Given the description of an element on the screen output the (x, y) to click on. 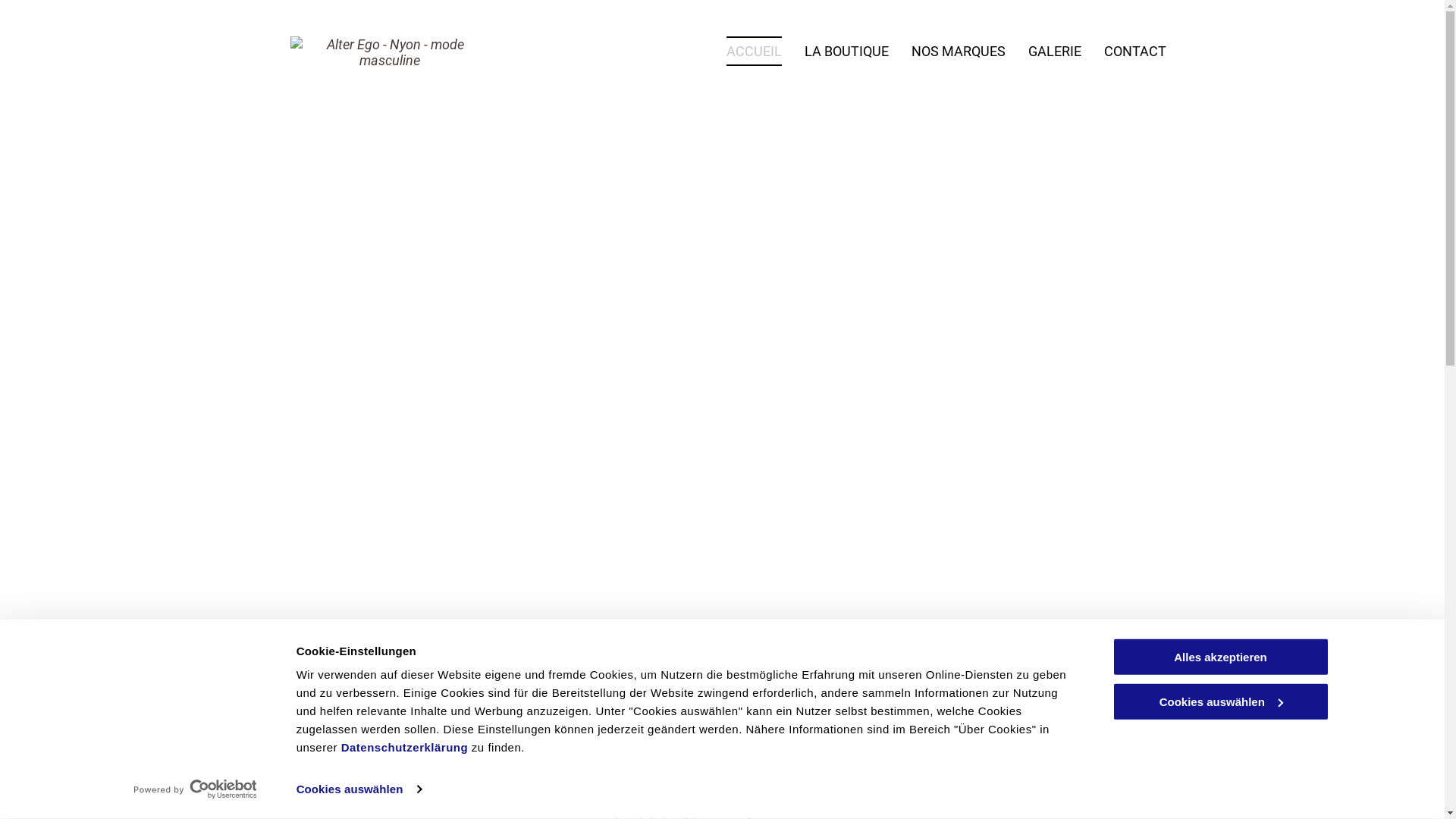
Alles akzeptieren Element type: text (1219, 656)
CONTACT Element type: text (1135, 50)
NOS MARQUES Element type: text (958, 50)
GALERIE Element type: text (1054, 50)
LA BOUTIQUE Element type: text (845, 50)
ACCUEIL Element type: text (753, 50)
